Given the description of an element on the screen output the (x, y) to click on. 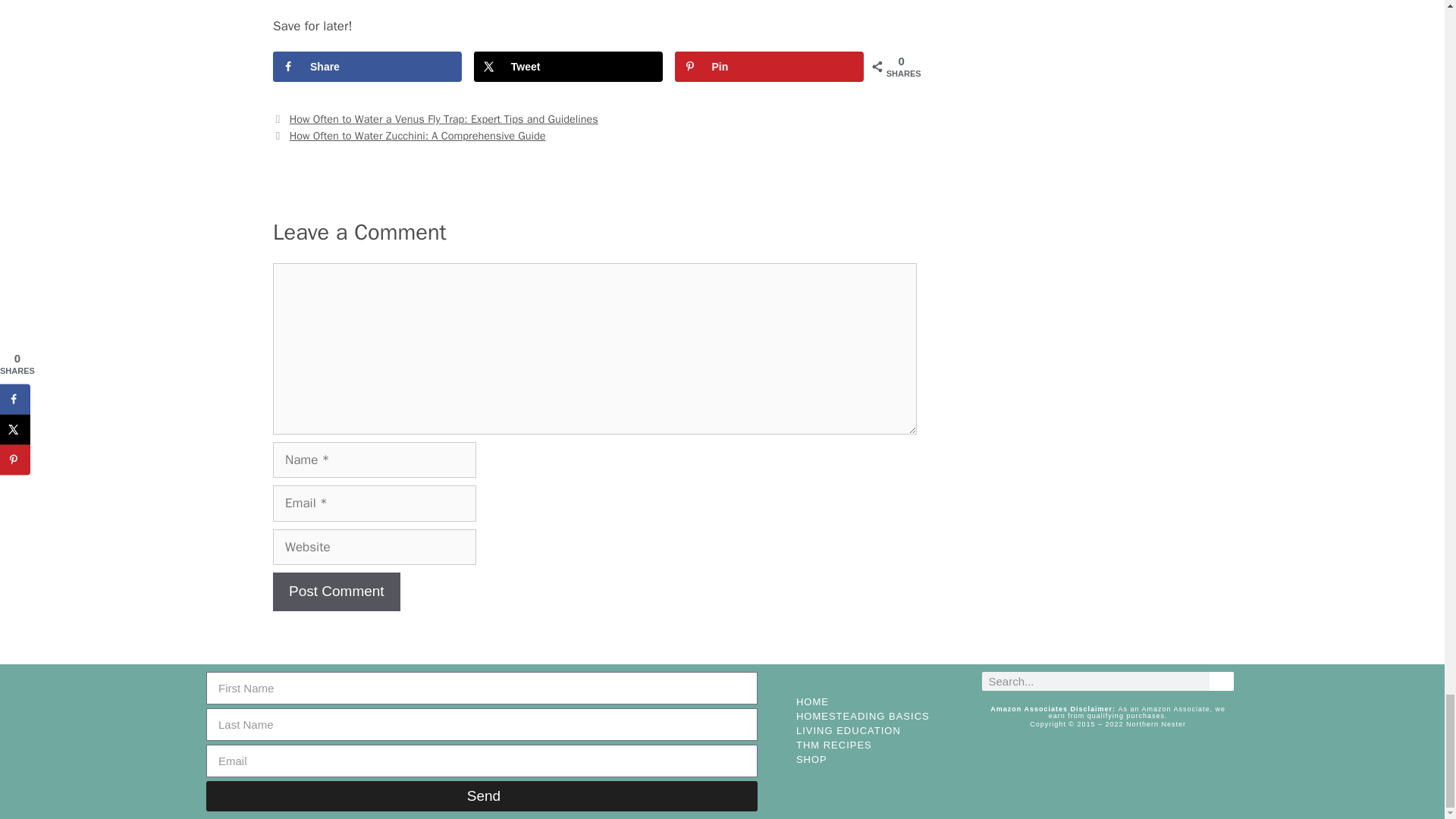
Post Comment (336, 591)
Share on Facebook (367, 66)
Share on X (568, 66)
Save to Pinterest (769, 66)
